Given the description of an element on the screen output the (x, y) to click on. 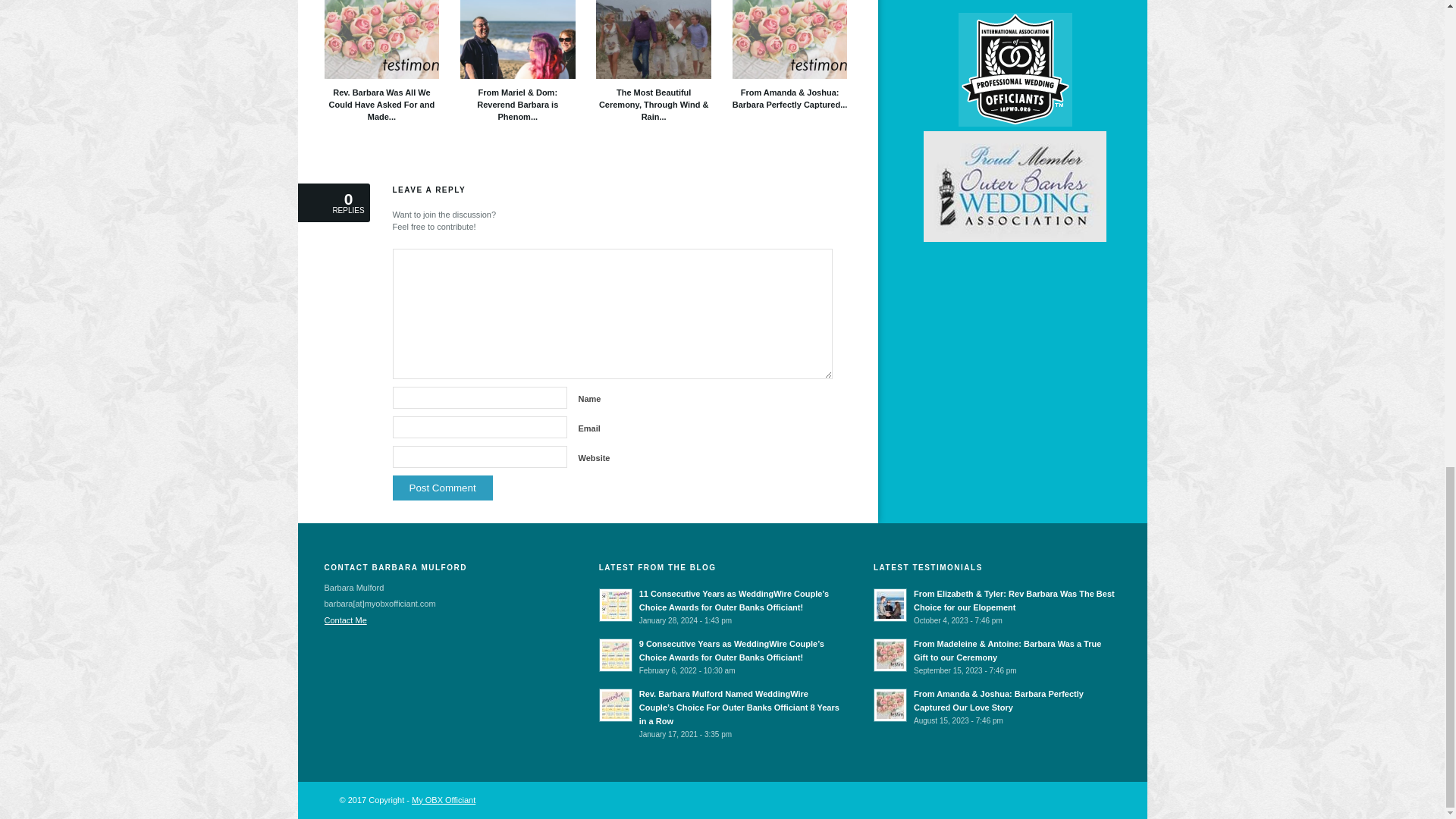
testimonial-img (381, 39)
Contact Me (345, 619)
2024 WW Babs Blog 764x415 (615, 605)
2021-ww-Babs-Blog (615, 705)
testimonial-img (789, 39)
Post Comment (443, 487)
Post Comment (443, 487)
obx-wedding-boznaks (653, 39)
Rev. Barbara Was All We Could Have Asked For and Made... (381, 61)
Mariel-Dom-Babs-Ceremony (517, 39)
